Given the description of an element on the screen output the (x, y) to click on. 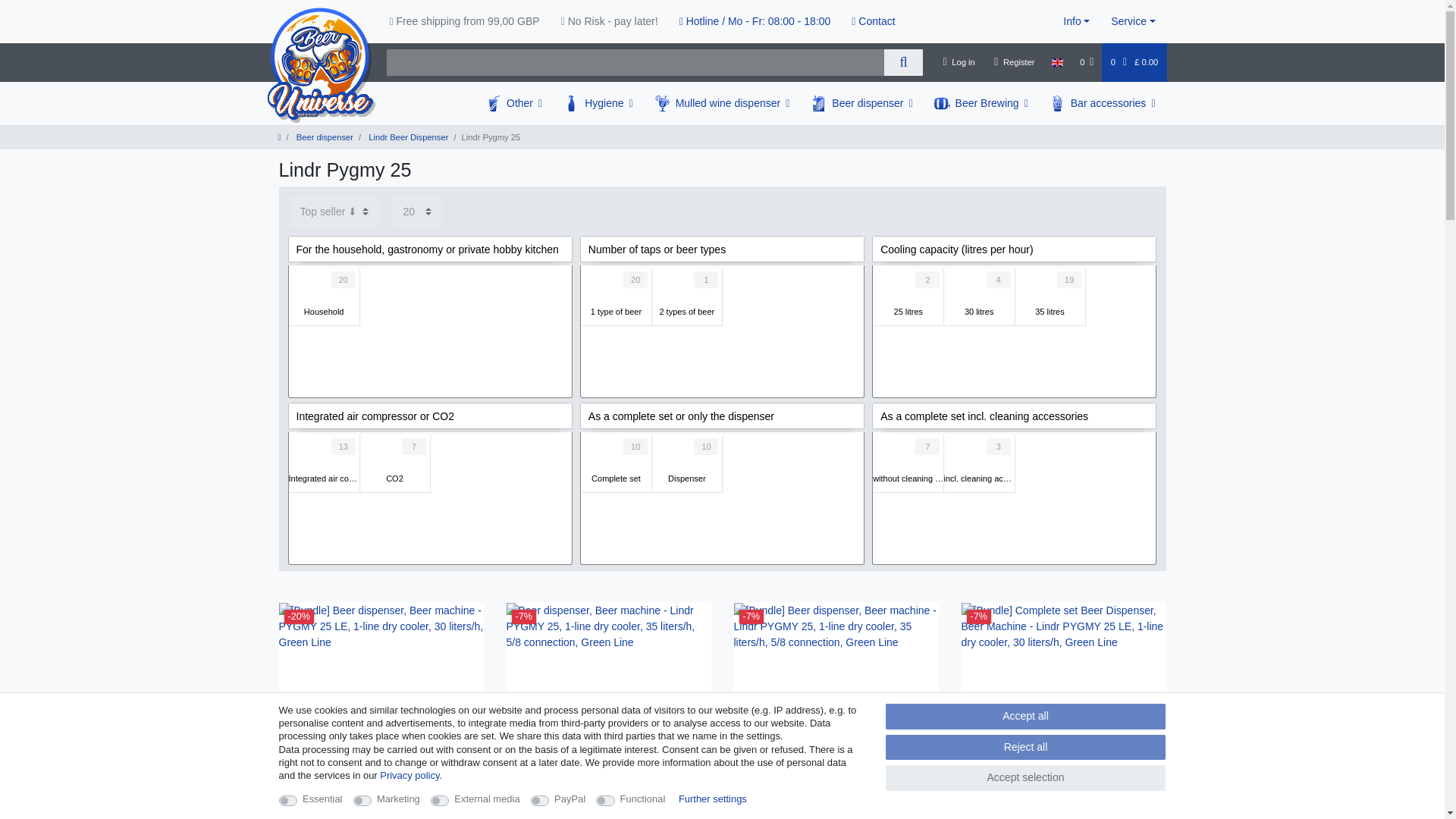
Register (1014, 62)
Service (1133, 21)
Free shipping from 99,00 GBP (464, 21)
Log in (959, 62)
Kontakt zu uns (873, 21)
Contact (873, 21)
No Risk - pay later! (609, 21)
Info (1076, 21)
Hotline (754, 21)
